Given the description of an element on the screen output the (x, y) to click on. 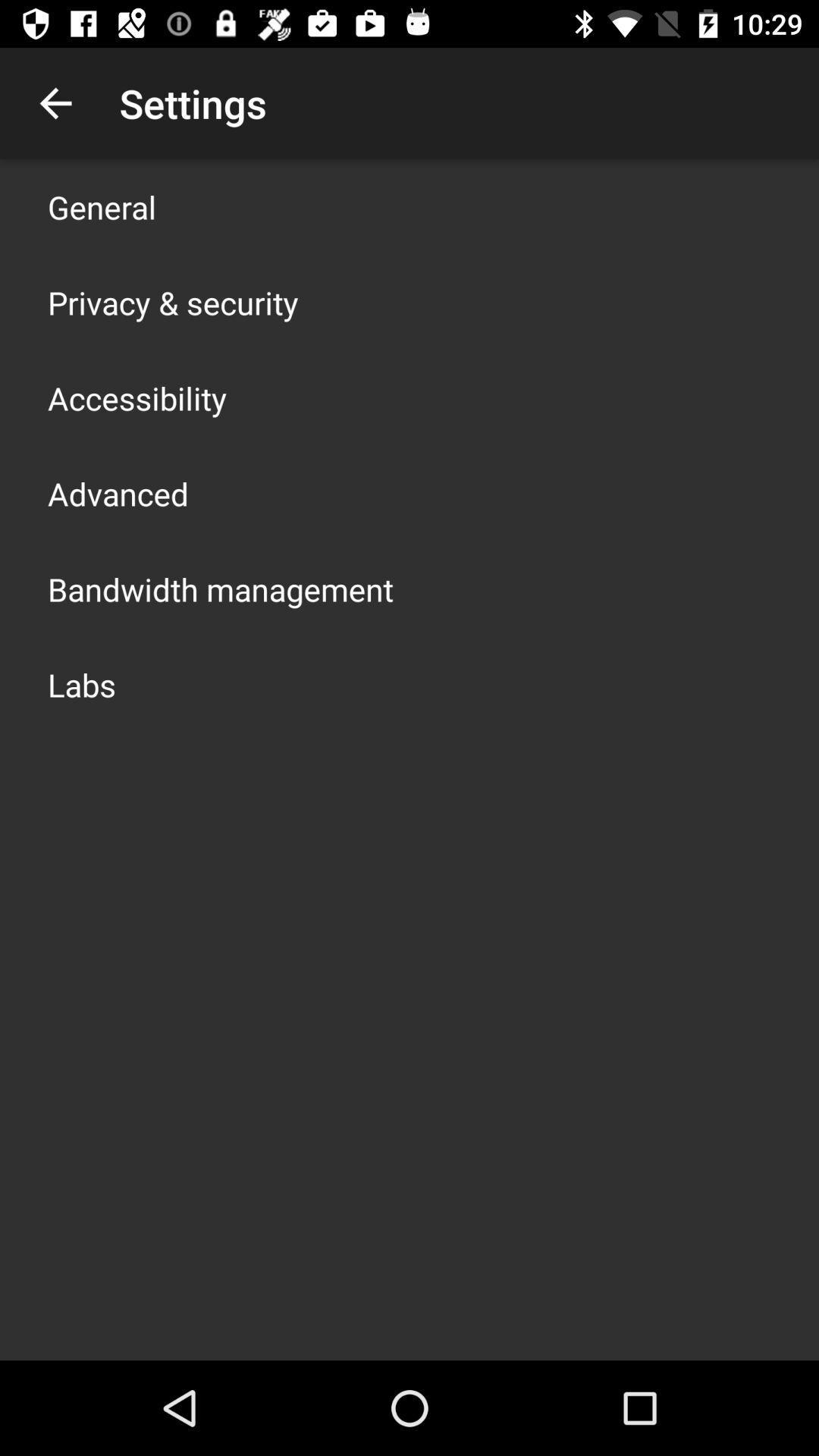
open accessibility (136, 397)
